Given the description of an element on the screen output the (x, y) to click on. 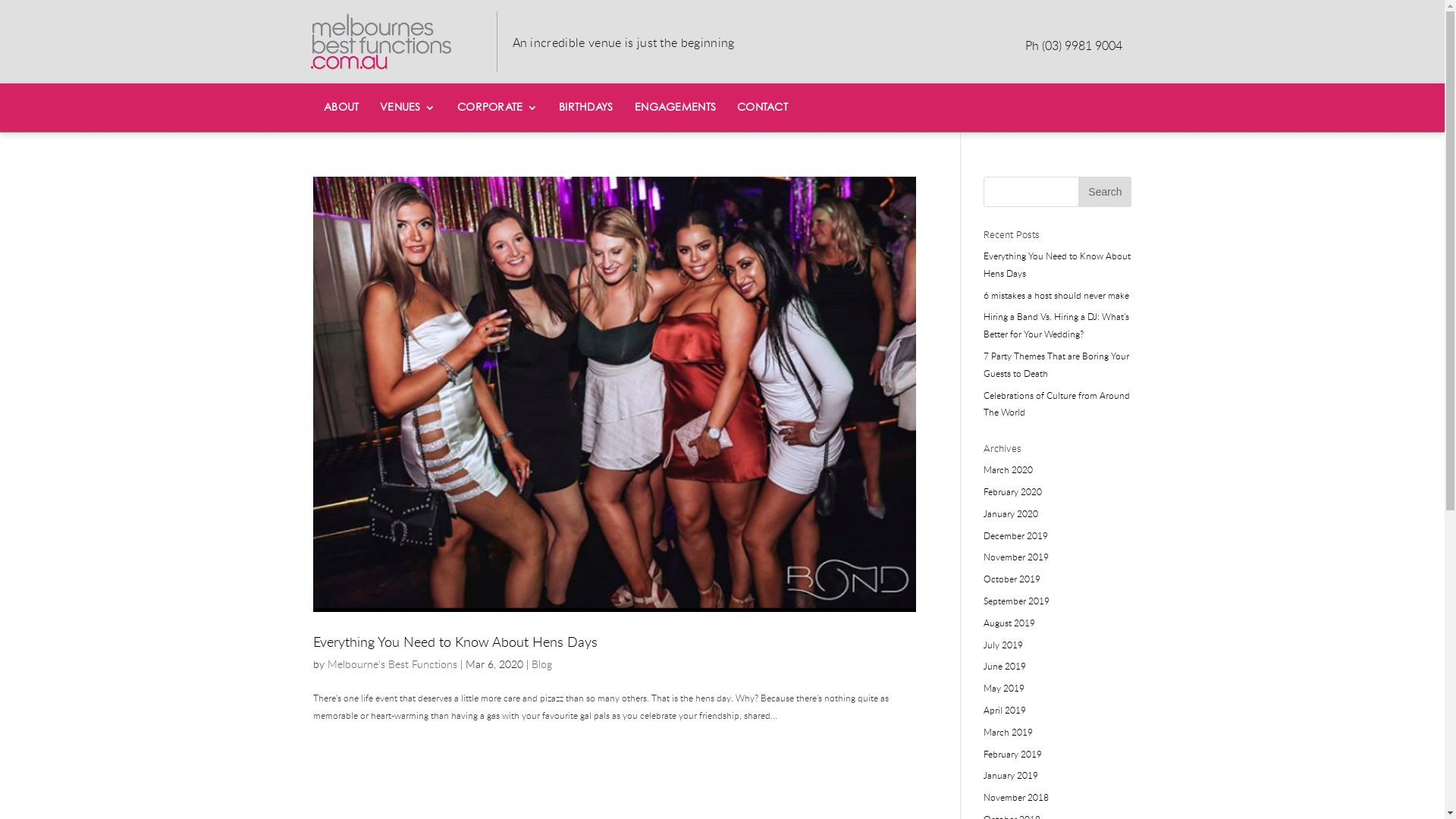
Everything You Need to Know About Hens Days Element type: text (1056, 264)
Search Element type: text (1104, 191)
December 2019 Element type: text (1015, 535)
November 2019 Element type: text (1015, 556)
7 Party Themes That are Boring Your Guests to Death Element type: text (1056, 364)
September 2019 Element type: text (1016, 600)
6 mistakes a host should never make Element type: text (1056, 294)
Blog Element type: text (540, 663)
VENUES Element type: text (407, 107)
CONTACT Element type: text (762, 107)
Everything You Need to Know About Hens Days Element type: text (454, 641)
June 2019 Element type: text (1004, 665)
July 2019 Element type: text (1002, 644)
Celebrations of Culture from Around The World Element type: text (1056, 403)
BIRTHDAYS Element type: text (586, 107)
January 2020 Element type: text (1010, 513)
CORPORATE Element type: text (497, 107)
February 2019 Element type: text (1012, 753)
November 2018 Element type: text (1015, 796)
April 2019 Element type: text (1004, 709)
ENGAGEMENTS Element type: text (675, 107)
February 2020 Element type: text (1012, 491)
Melbourne's Best Functions Element type: text (392, 663)
March 2020 Element type: text (1007, 469)
March 2019 Element type: text (1007, 731)
May 2019 Element type: text (1003, 687)
January 2019 Element type: text (1010, 774)
October 2019 Element type: text (1011, 578)
ABOUT Element type: text (340, 107)
August 2019 Element type: text (1009, 622)
